Given the description of an element on the screen output the (x, y) to click on. 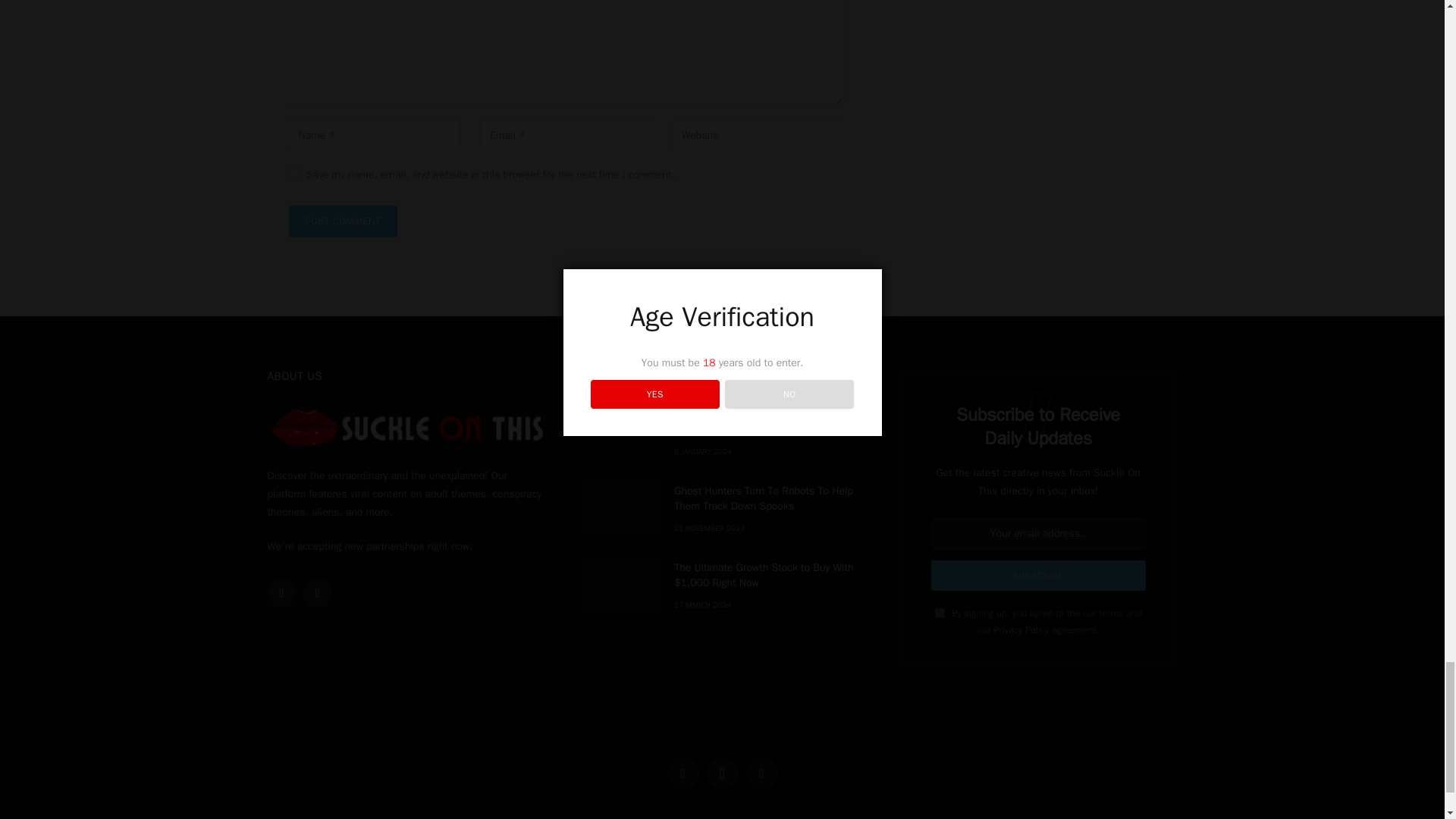
Post Comment (342, 221)
Subscribe (1038, 575)
on (939, 613)
yes (293, 173)
